Given the description of an element on the screen output the (x, y) to click on. 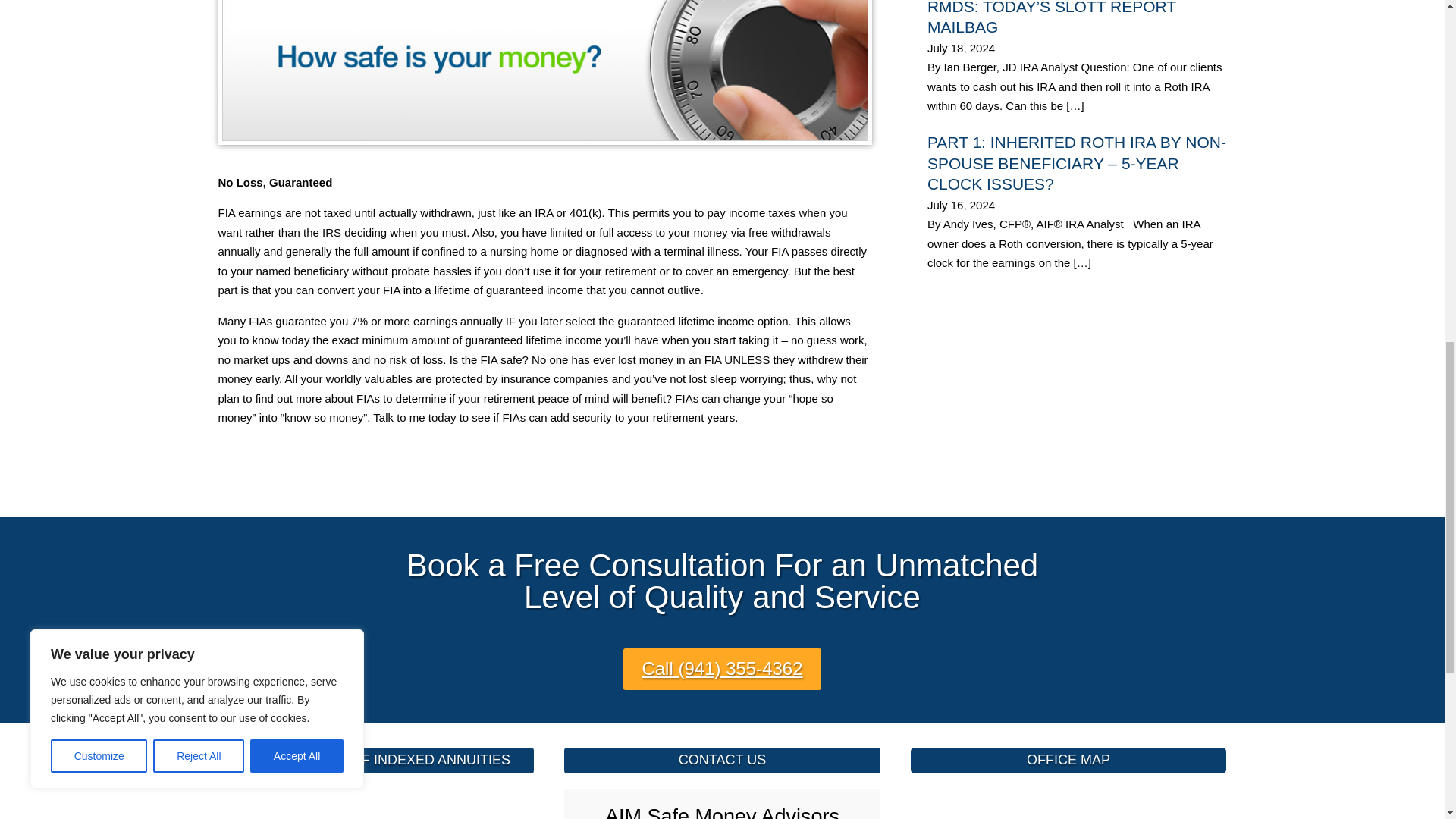
safe-money-2 (545, 72)
